Given the description of an element on the screen output the (x, y) to click on. 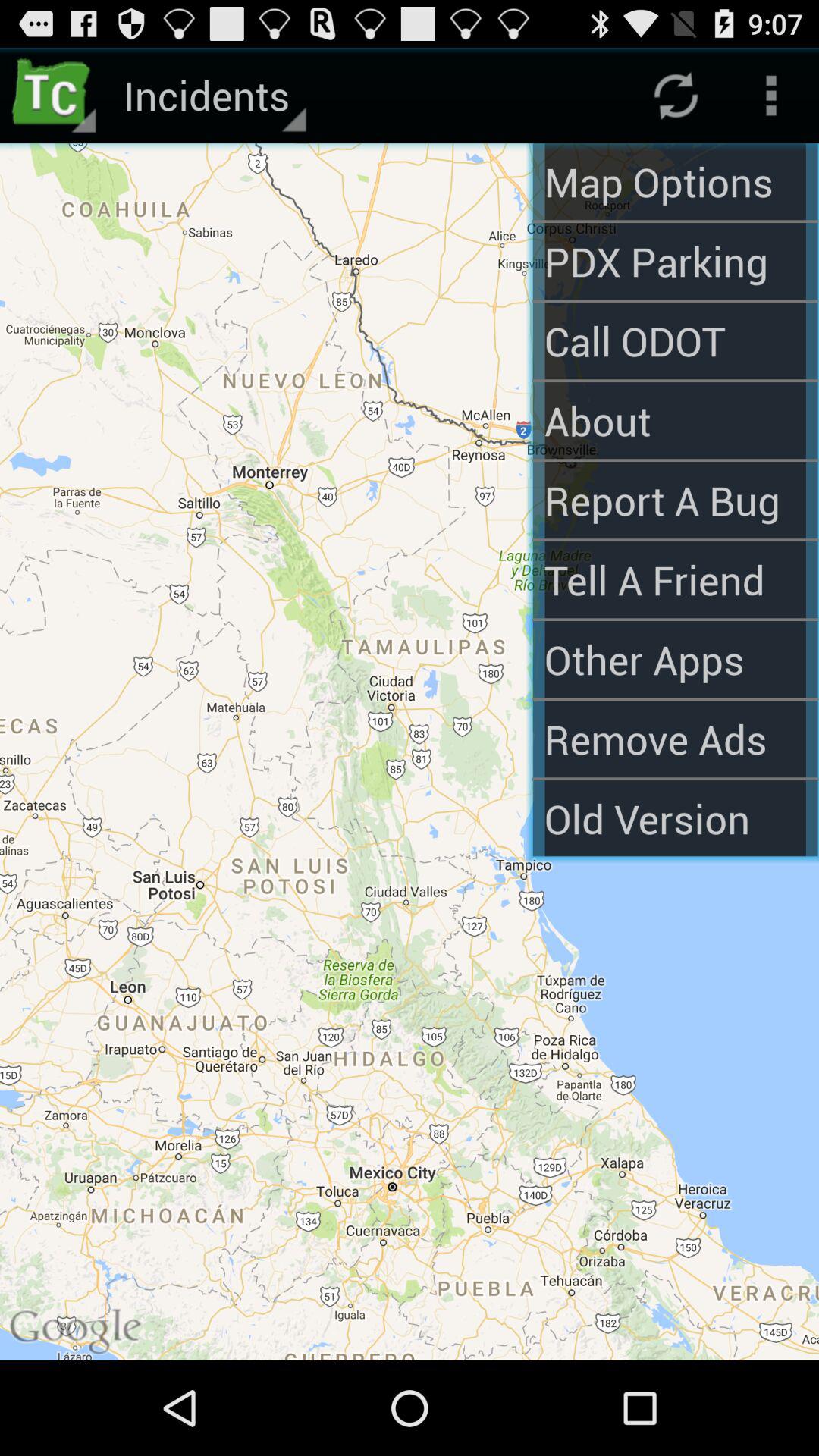
launch about app (675, 420)
